Given the description of an element on the screen output the (x, y) to click on. 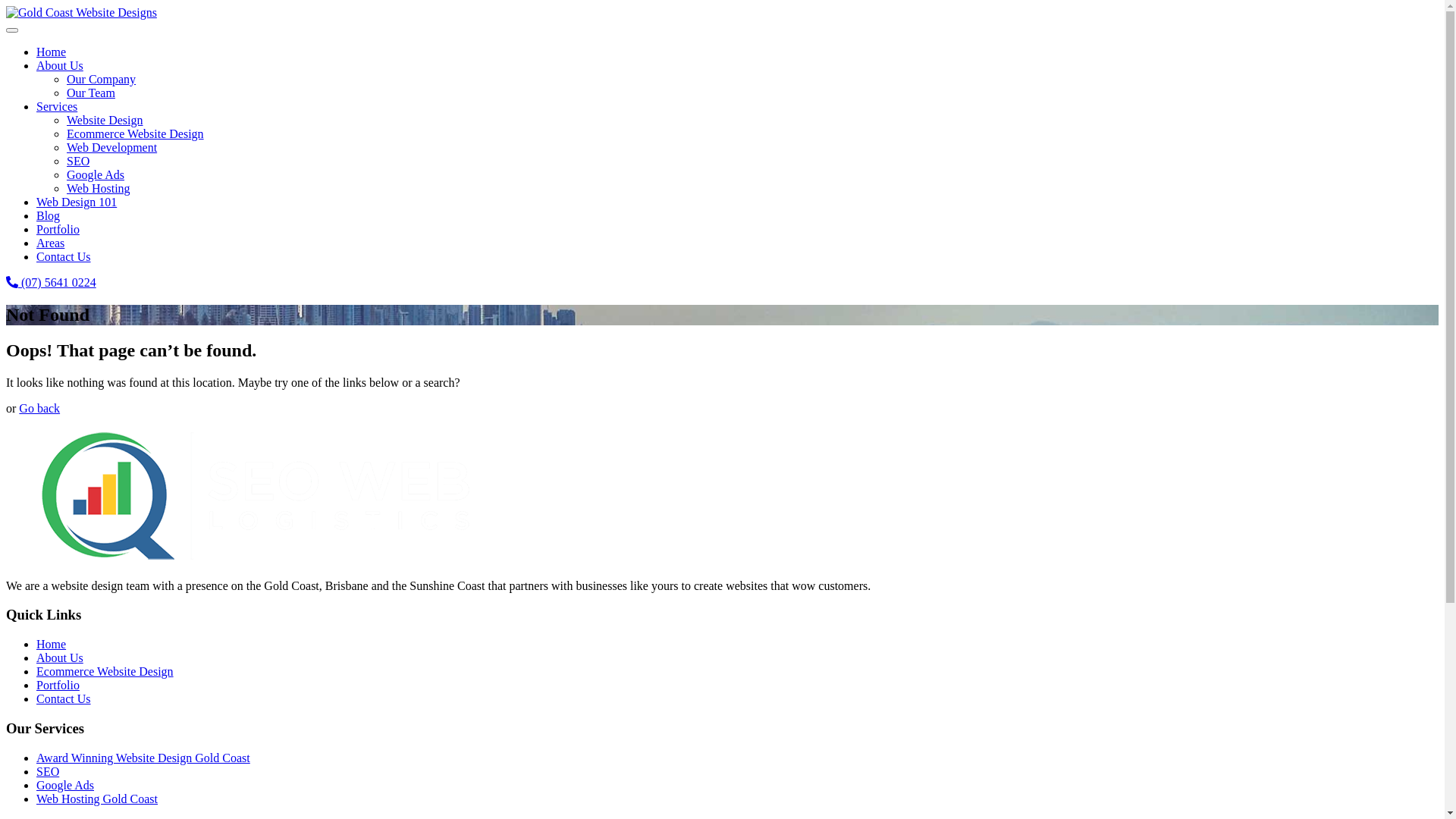
Google Ads Element type: text (95, 174)
Ecommerce Website Design Element type: text (134, 133)
About Us Element type: text (59, 65)
Ecommerce Website Design Element type: text (104, 671)
Contact Us Element type: text (63, 256)
(07) 5641 0224 Element type: text (51, 282)
Blog Element type: text (47, 215)
SEO Element type: text (47, 771)
About Us Element type: text (59, 657)
Web Hosting Gold Coast Element type: text (96, 798)
Portfolio Element type: text (57, 228)
SEO Element type: text (77, 160)
Portfolio Element type: text (57, 684)
Home Element type: text (50, 51)
Google Ads Element type: text (65, 784)
Areas Element type: text (50, 242)
Web Development Element type: text (111, 147)
Home Element type: text (50, 643)
Web Design 101 Element type: text (76, 201)
Go back Element type: text (38, 407)
Our Team Element type: text (90, 92)
Web Hosting Element type: text (98, 188)
Award Winning Website Design Gold Coast Element type: text (143, 757)
Website Design Element type: text (104, 119)
Services Element type: text (56, 106)
Our Company Element type: text (100, 78)
Contact Us Element type: text (63, 698)
